Given the description of an element on the screen output the (x, y) to click on. 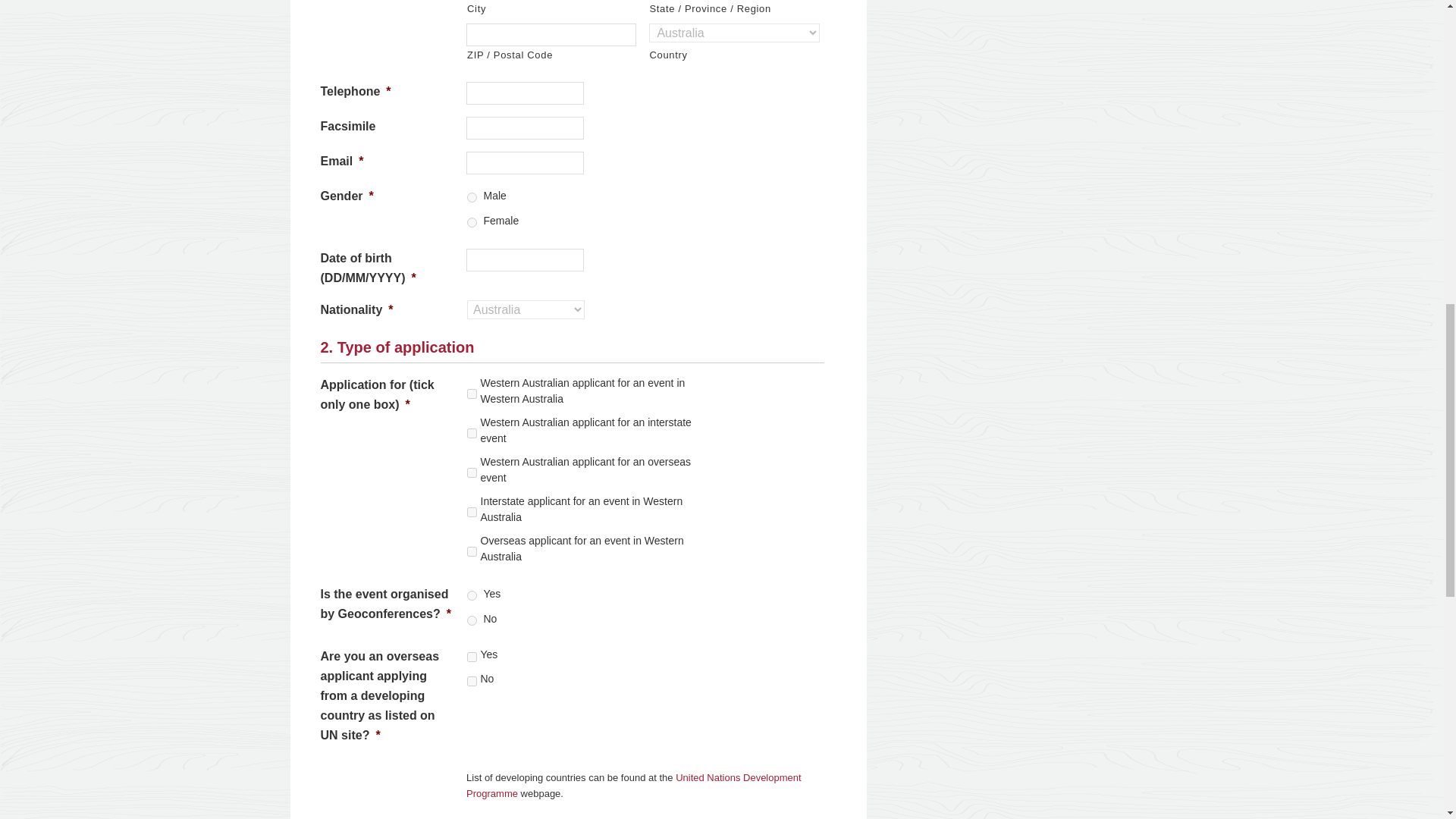
United Nations Development Programme (633, 785)
Interstate applicant for an event in Western Australia (472, 511)
Female (472, 222)
Western Australian applicant for an overseas event (472, 472)
Male (472, 197)
Western Australian applicant for an interstate event (472, 433)
Overseas applicant for an event in Western Australia (472, 551)
